Given the description of an element on the screen output the (x, y) to click on. 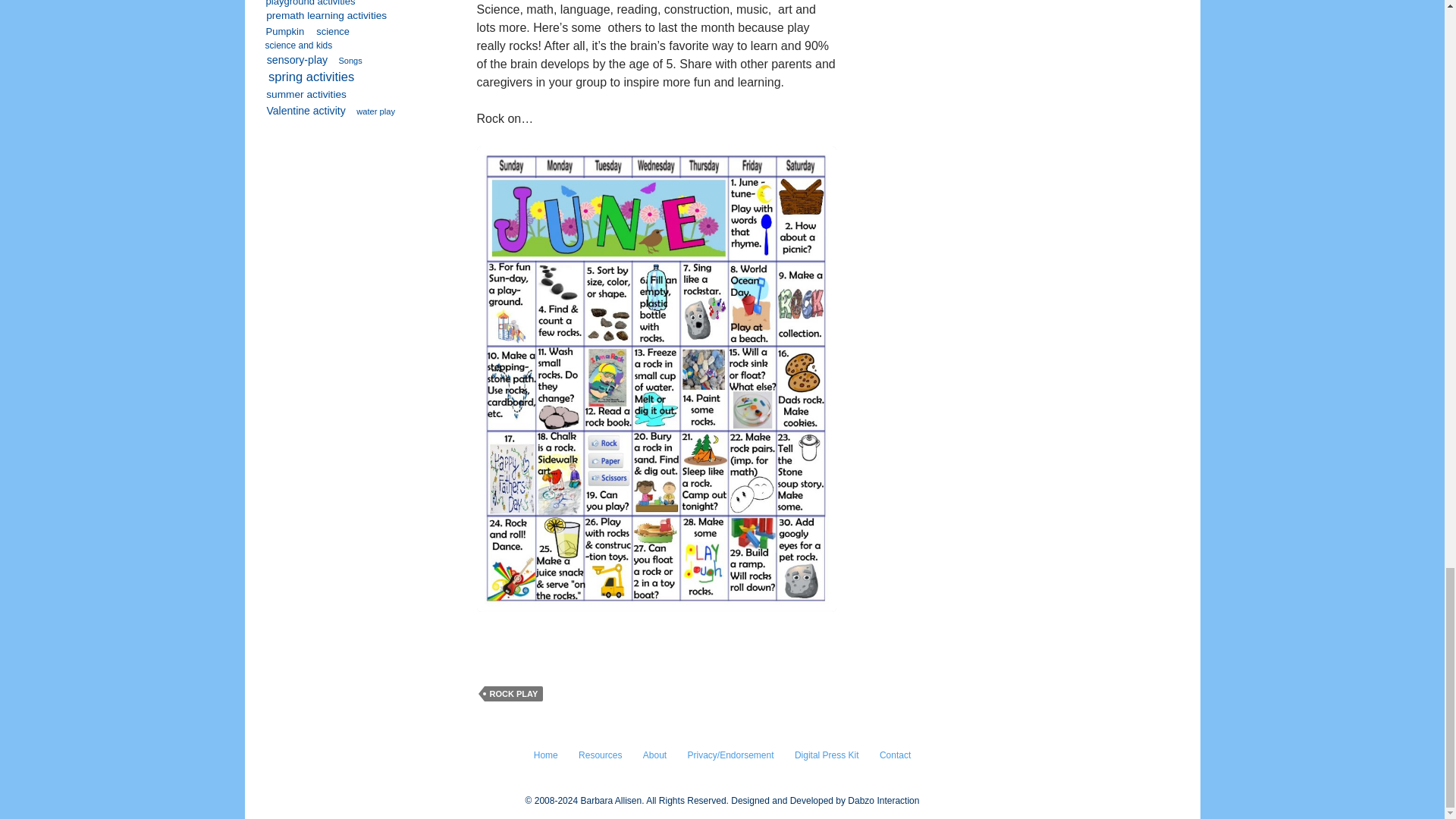
ROCK PLAY (513, 693)
